Given the description of an element on the screen output the (x, y) to click on. 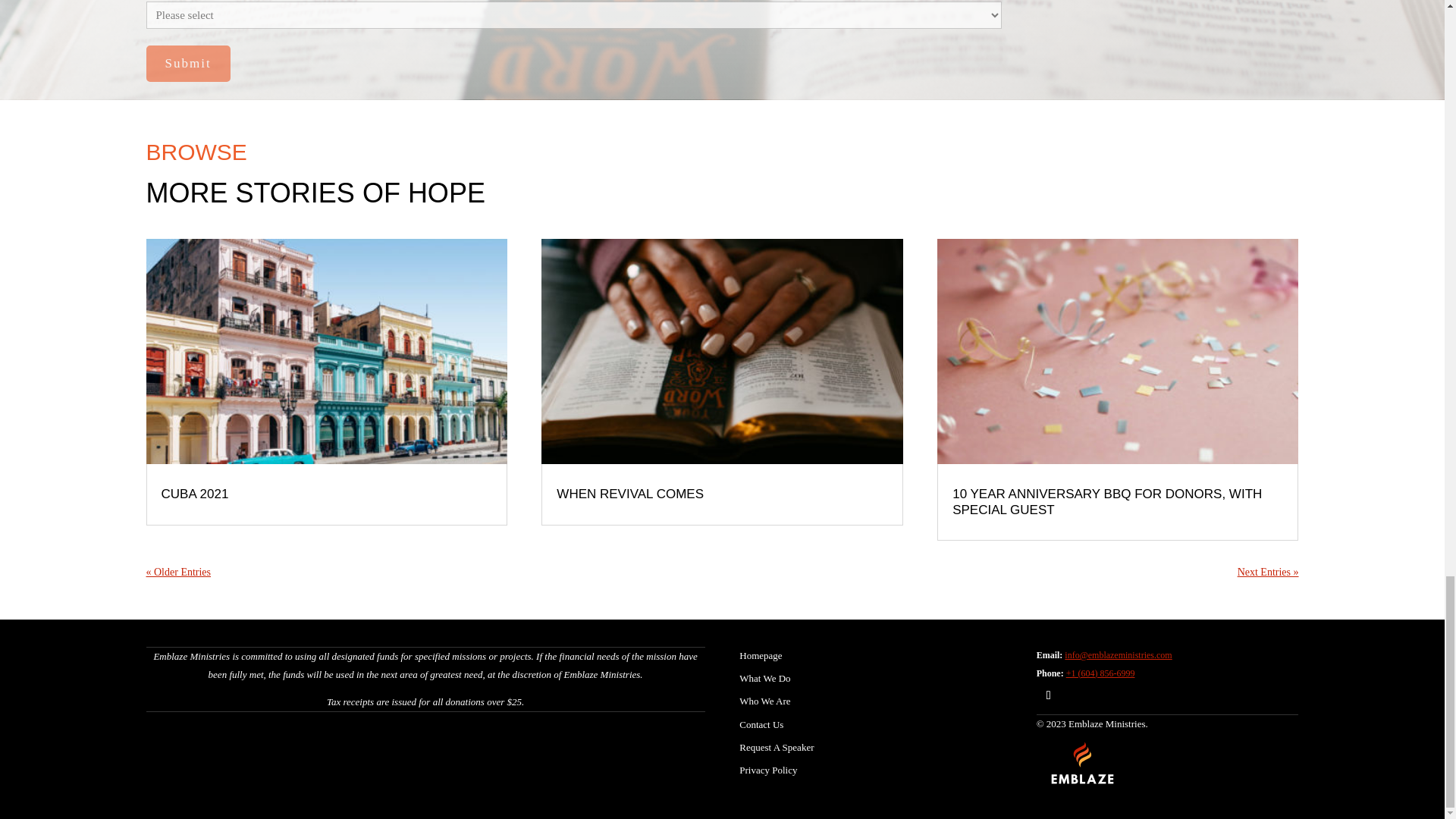
Who We Are (764, 700)
Submit (187, 63)
10 YEAR ANNIVERSARY BBQ FOR DONORS, WITH SPECIAL GUEST (1107, 501)
Contact Us (761, 724)
Privacy Policy (767, 769)
WHEN REVIVAL COMES (629, 493)
What We Do (764, 677)
Follow on Facebook (1048, 695)
Homepage (760, 655)
Submit (187, 63)
Emblaze Logo - Word and Icon - Inverted Color (1082, 762)
CUBA 2021 (194, 493)
Request A Speaker (776, 747)
